Given the description of an element on the screen output the (x, y) to click on. 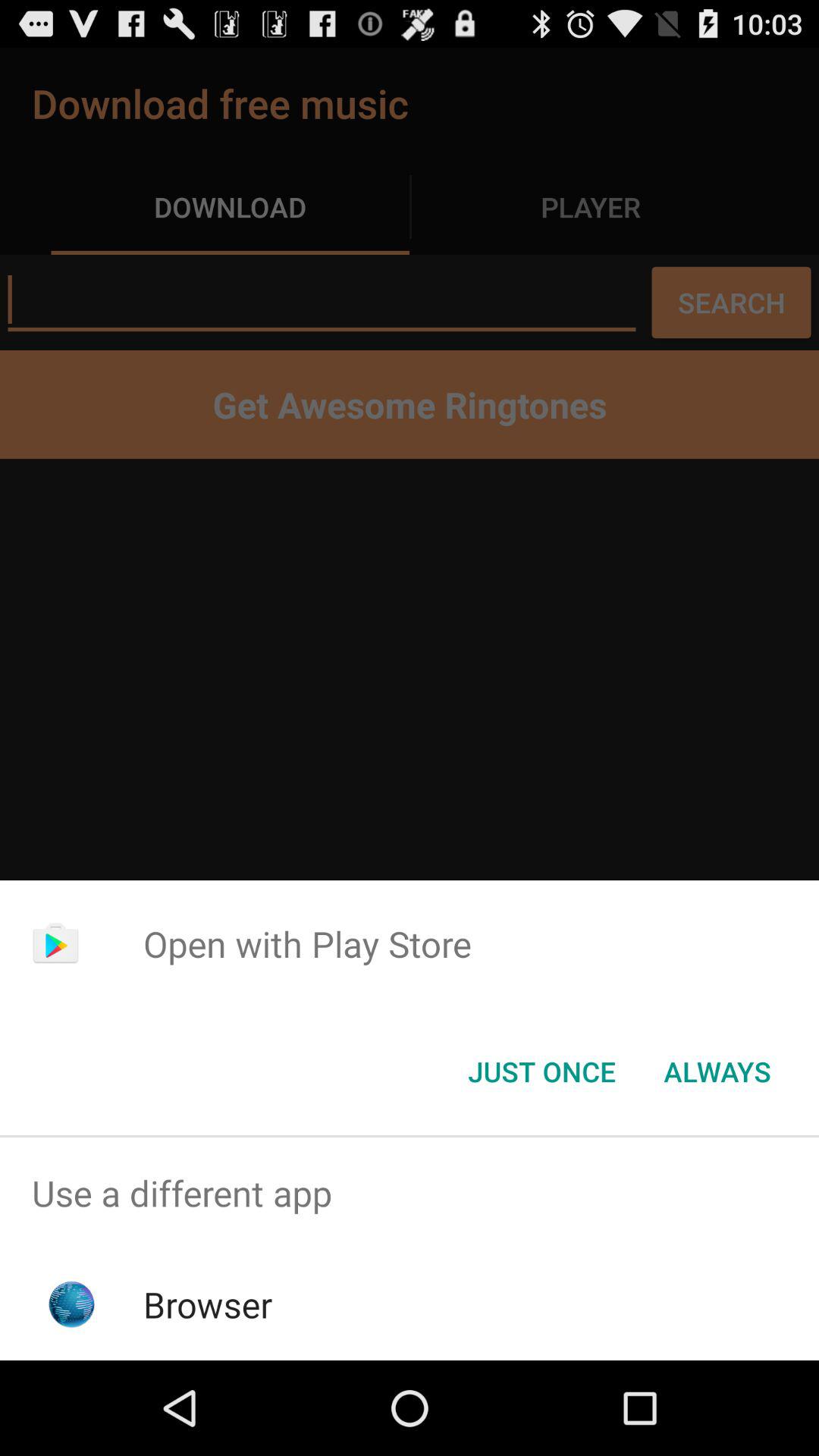
scroll until use a different item (409, 1192)
